Given the description of an element on the screen output the (x, y) to click on. 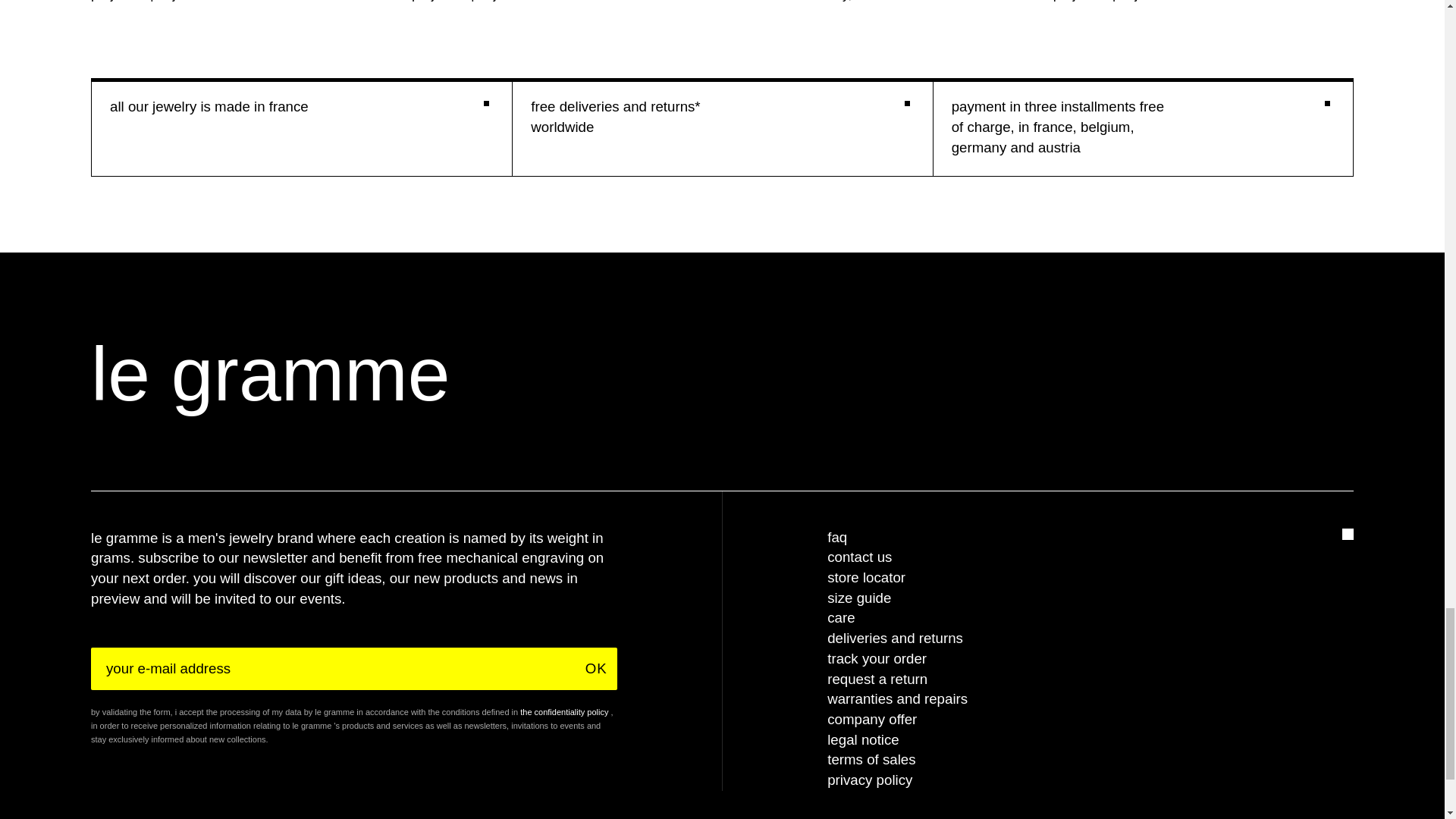
Privacy Policy (563, 712)
